Given the description of an element on the screen output the (x, y) to click on. 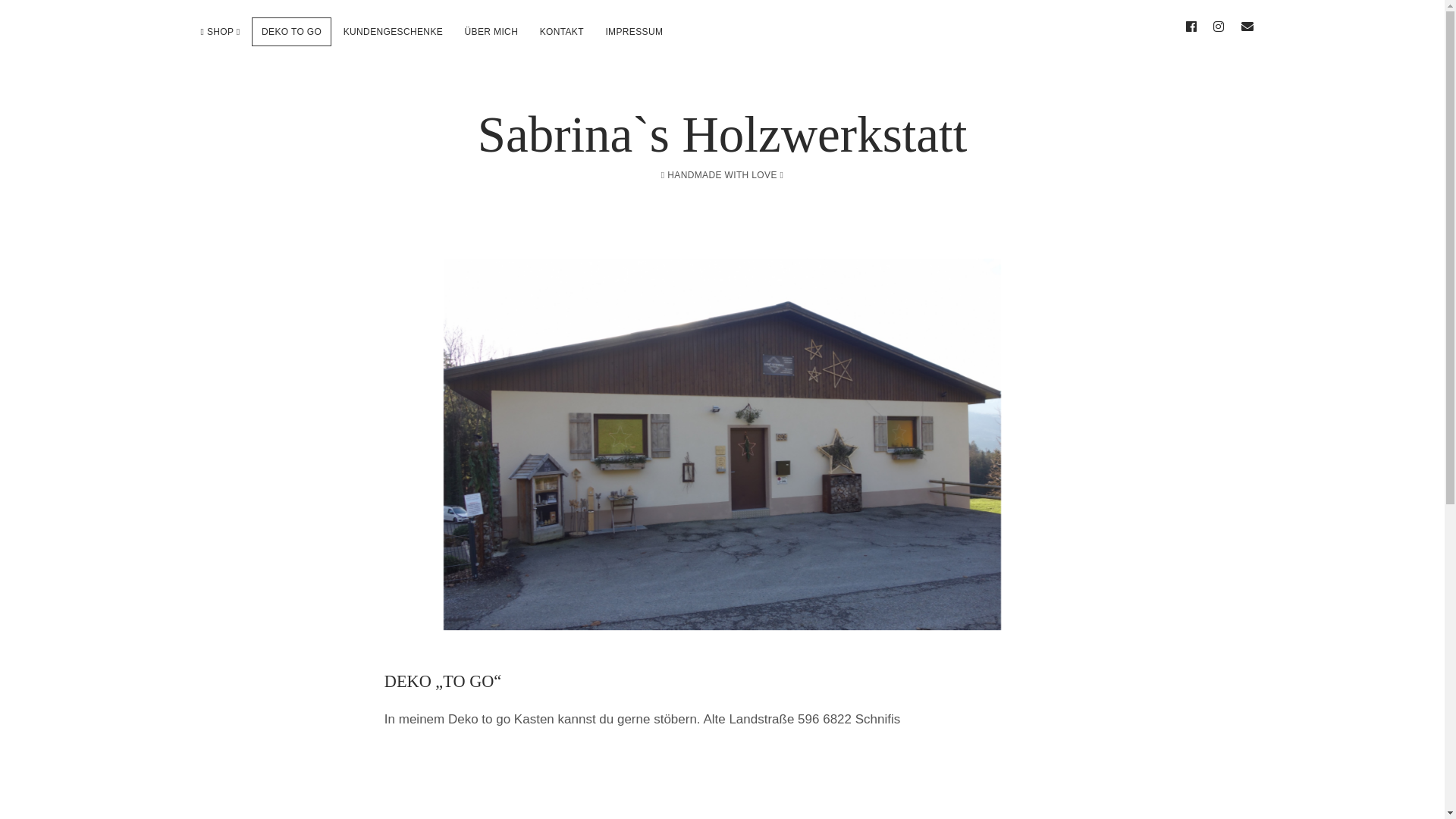
DEKO TO GO Element type: text (291, 31)
E-Mail Element type: hover (1246, 26)
instagram Element type: hover (1218, 26)
facebook Element type: text (1191, 26)
IMPRESSUM Element type: text (633, 31)
Sabrina`s Holzwerkstatt Element type: text (722, 134)
E-Mail Element type: text (1246, 26)
facebook Element type: hover (1191, 26)
KUNDENGESCHENKE Element type: text (392, 31)
KONTAKT Element type: text (561, 31)
instagram Element type: text (1218, 26)
